Given the description of an element on the screen output the (x, y) to click on. 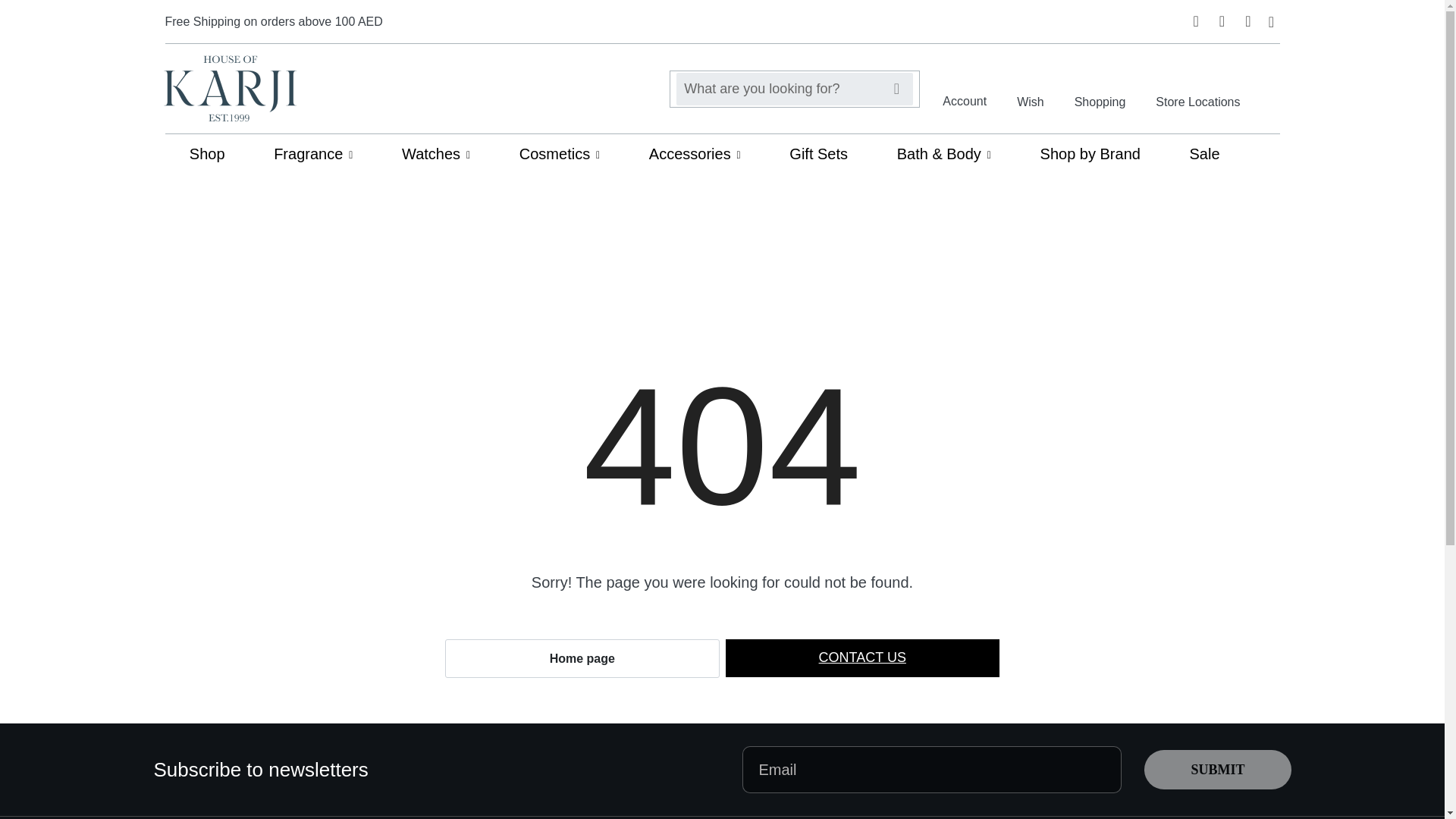
Shopping (1099, 88)
Wish (1029, 88)
Store Locations (1198, 88)
Shop by Brand (1090, 153)
Search (896, 89)
Account (964, 88)
Watches (435, 153)
Gift Sets (818, 153)
Fragrance (312, 153)
Submit (1217, 769)
Accessories (695, 153)
Cosmetics (559, 153)
Shop (207, 153)
Karji (230, 88)
Sale (1204, 153)
